Given the description of an element on the screen output the (x, y) to click on. 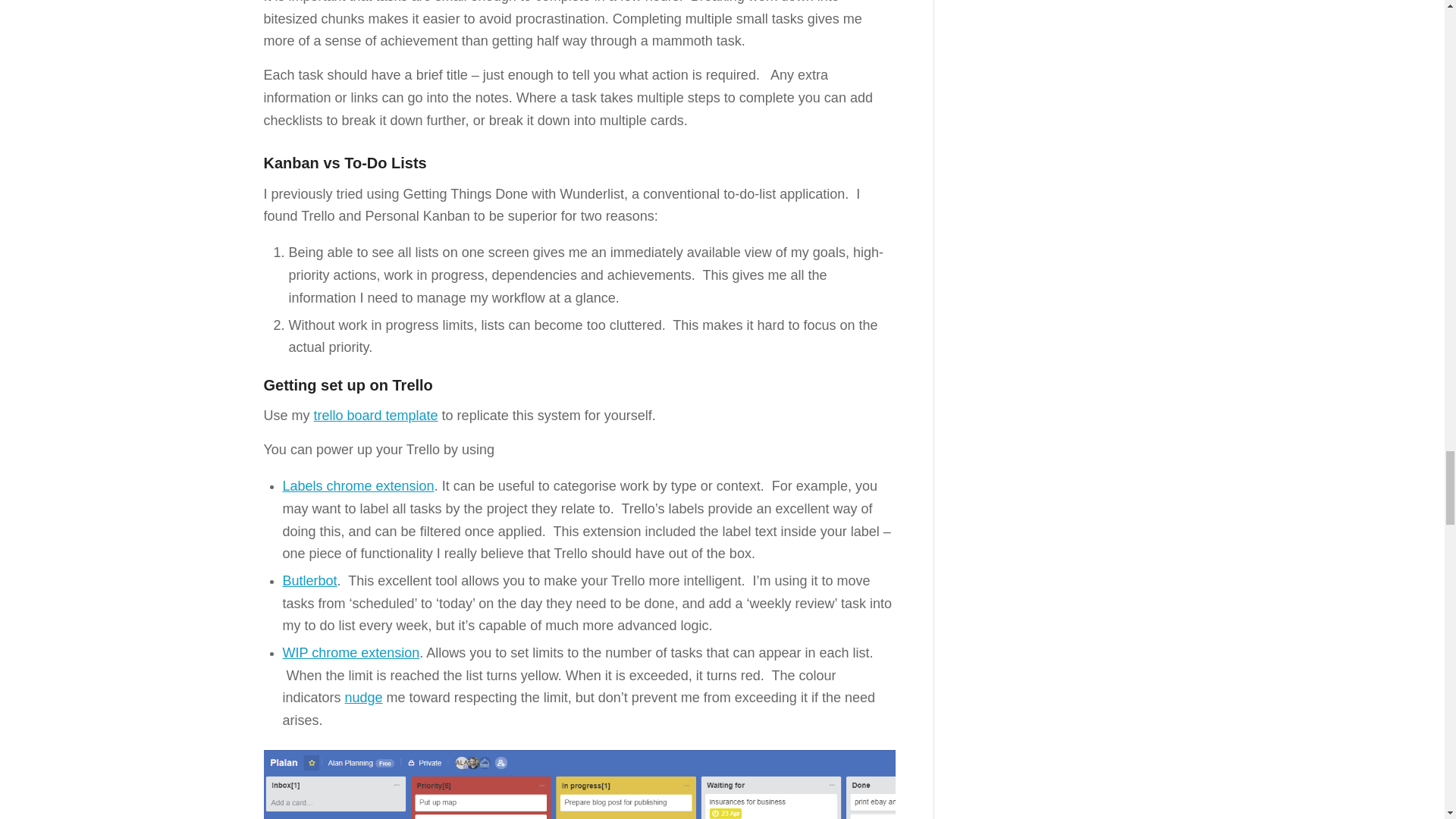
Butlerbot (309, 580)
WIP chrome extension (350, 652)
Labels chrome extension (357, 485)
trello board template (376, 415)
nudge (363, 697)
